Given the description of an element on the screen output the (x, y) to click on. 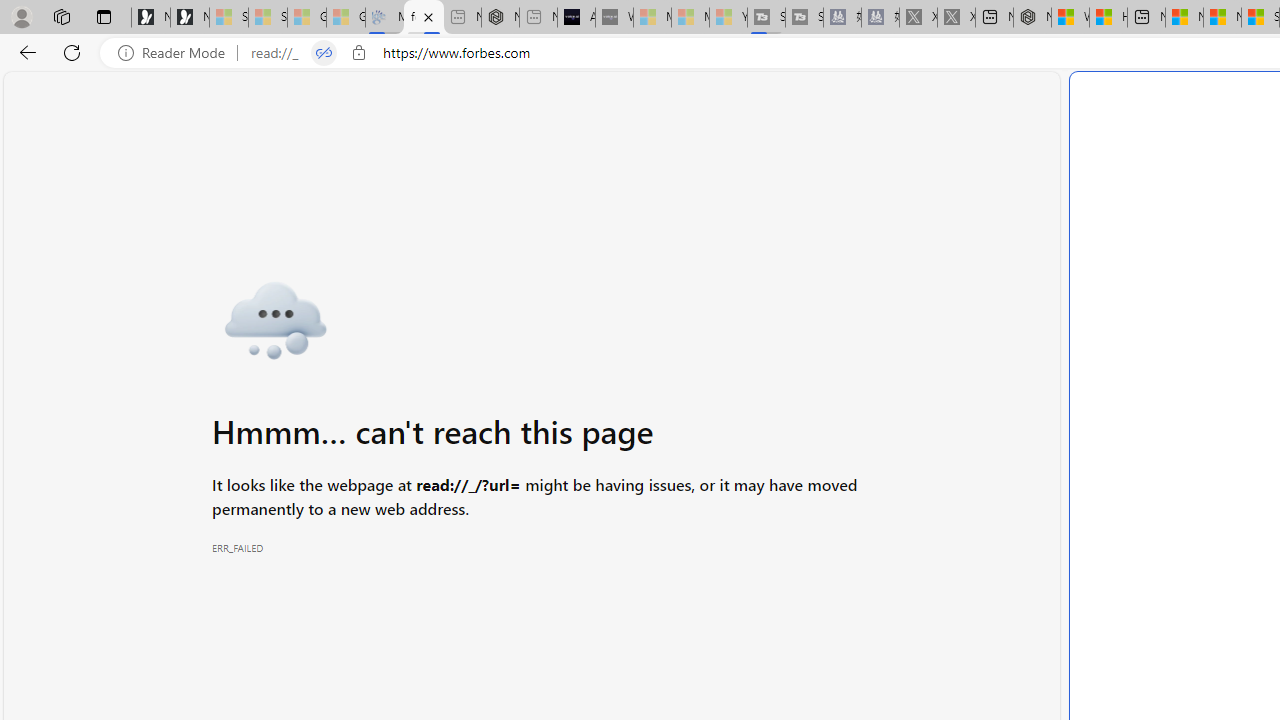
Newsletter Sign Up (189, 17)
Huge shark washes ashore at New York City beach | Watch (1108, 17)
Nordace - My Account (1031, 17)
What's the best AI voice generator? - voice.ai - Sleeping (614, 17)
